Given the description of an element on the screen output the (x, y) to click on. 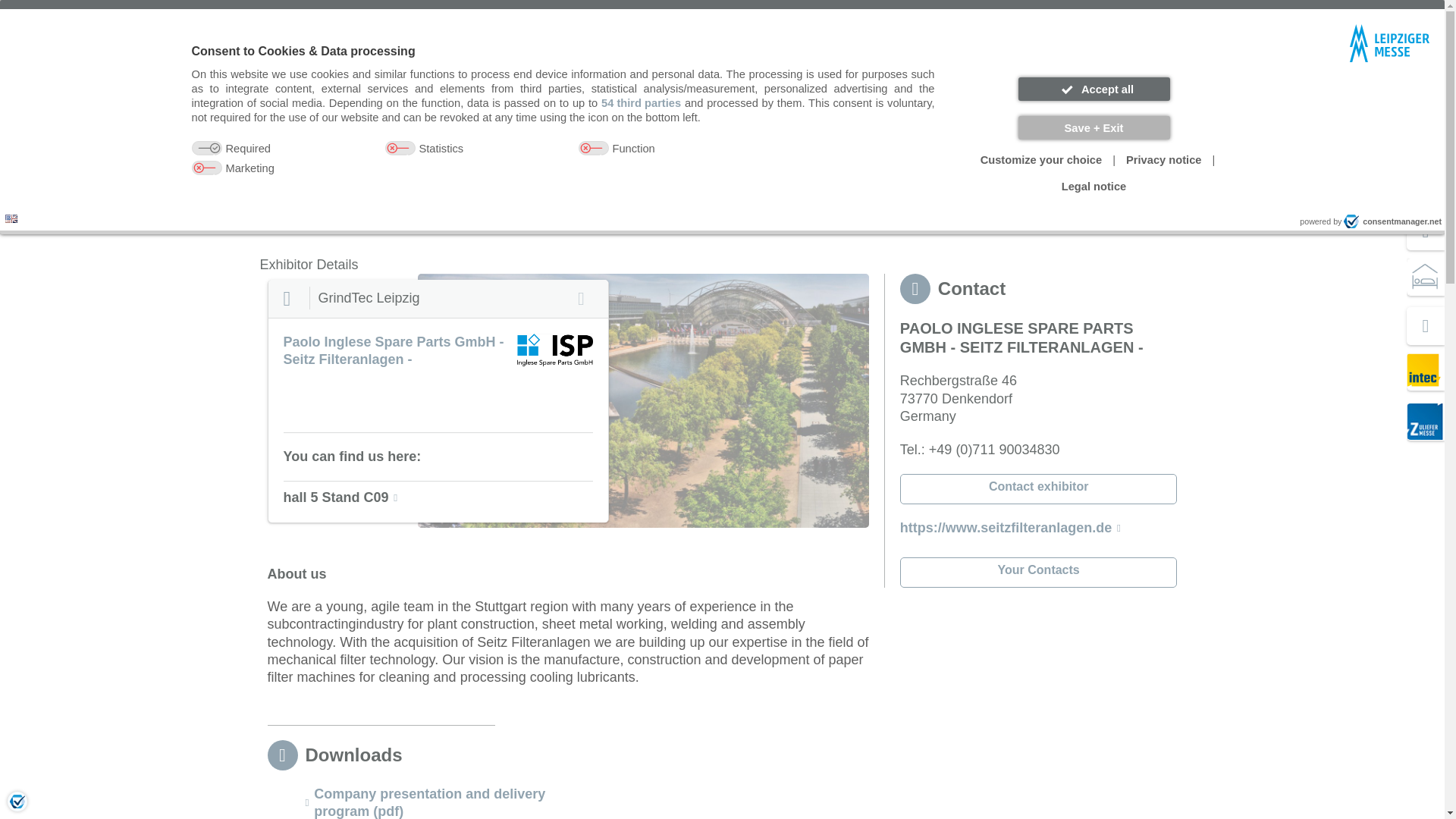
Zuliefermesse Logo (1424, 421)
Homepage (288, 199)
consentmanager.net (1392, 221)
Contact (1003, 15)
Language: en (11, 218)
Purpose (562, 159)
Enter search term (702, 85)
Search (854, 85)
Privacy notice (1163, 160)
Exhibitor Catalog (376, 199)
54 third parties (641, 103)
Accept all (1093, 88)
Privacy settings (17, 801)
Exhibit (286, 160)
